Given the description of an element on the screen output the (x, y) to click on. 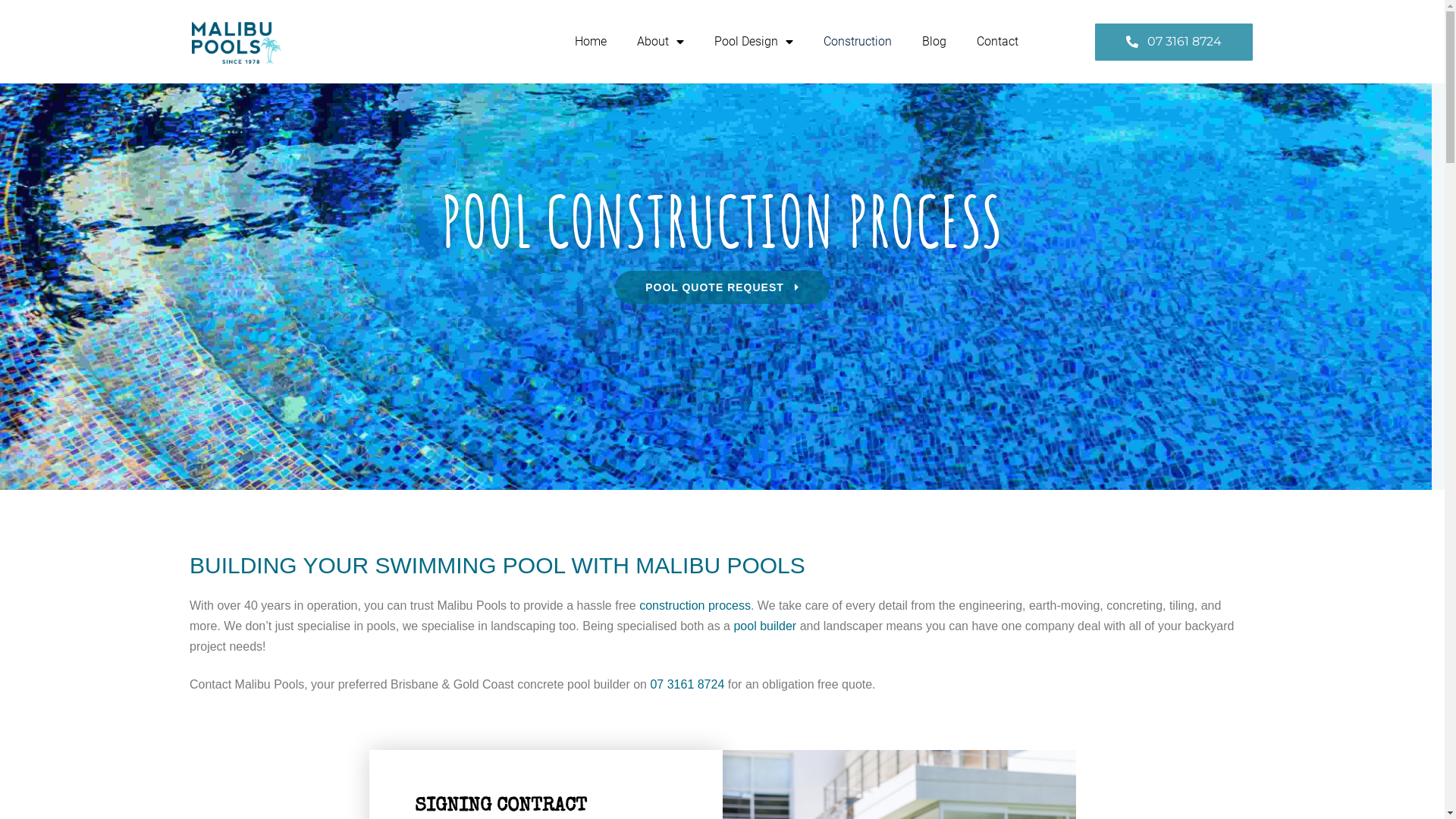
POOL QUOTE REQUEST Element type: text (722, 287)
07 3161 8724 Element type: text (686, 683)
Blog Element type: text (933, 41)
Home Element type: text (590, 41)
07 3161 8724 Element type: text (1173, 40)
About Element type: text (660, 41)
Pool Design Element type: text (753, 41)
construction process Element type: text (694, 605)
Contact Element type: text (997, 41)
Construction Element type: text (857, 41)
pool builder Element type: text (764, 625)
